Given the description of an element on the screen output the (x, y) to click on. 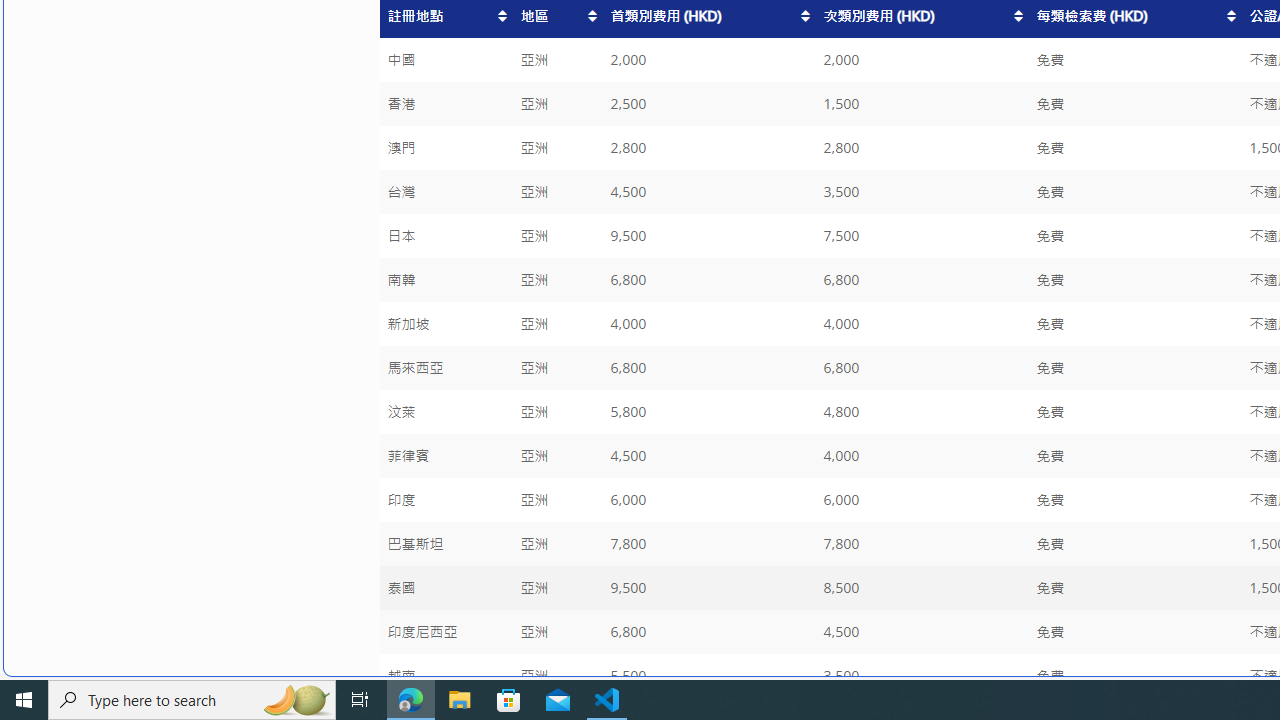
7,500 (922, 236)
4,800 (922, 412)
1,500 (922, 104)
3,500 (922, 676)
4,500 (922, 632)
2,800 (922, 148)
6,800 (708, 632)
4,000 (922, 456)
6,000 (922, 500)
2,500 (708, 104)
